Given the description of an element on the screen output the (x, y) to click on. 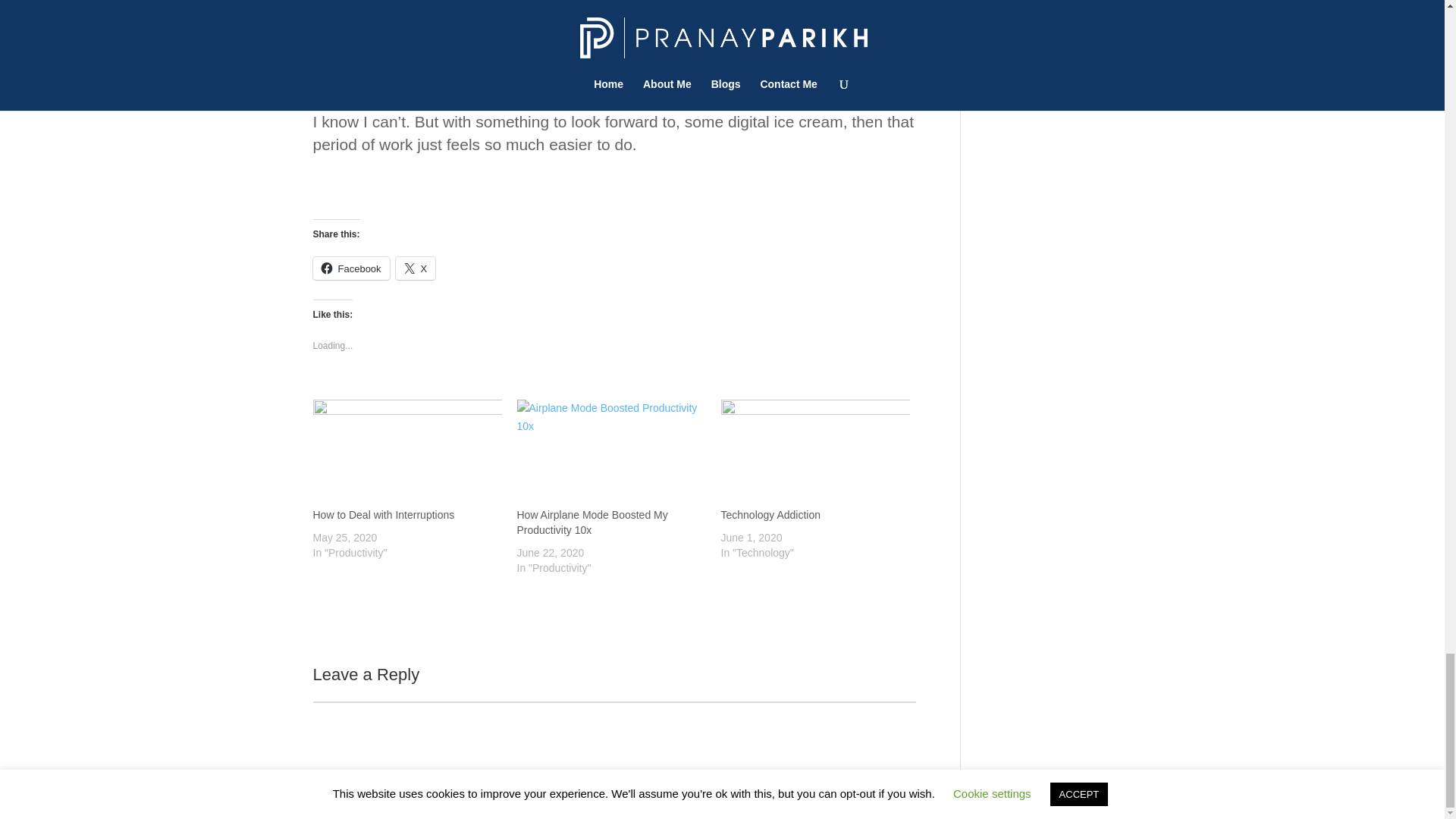
How to Deal with Interruptions (406, 452)
How Airplane Mode Boosted My Productivity 10x (611, 452)
How Airplane Mode Boosted My Productivity 10x (592, 522)
Technology Addiction (770, 514)
How to Deal with Interruptions (383, 514)
Facebook (350, 267)
How Airplane Mode Boosted My Productivity 10x (592, 522)
Click to share on Facebook (350, 267)
Click to share on X (415, 267)
Technology Addiction (814, 452)
Technology Addiction (770, 514)
How to Deal with Interruptions (383, 514)
X (415, 267)
